Given the description of an element on the screen output the (x, y) to click on. 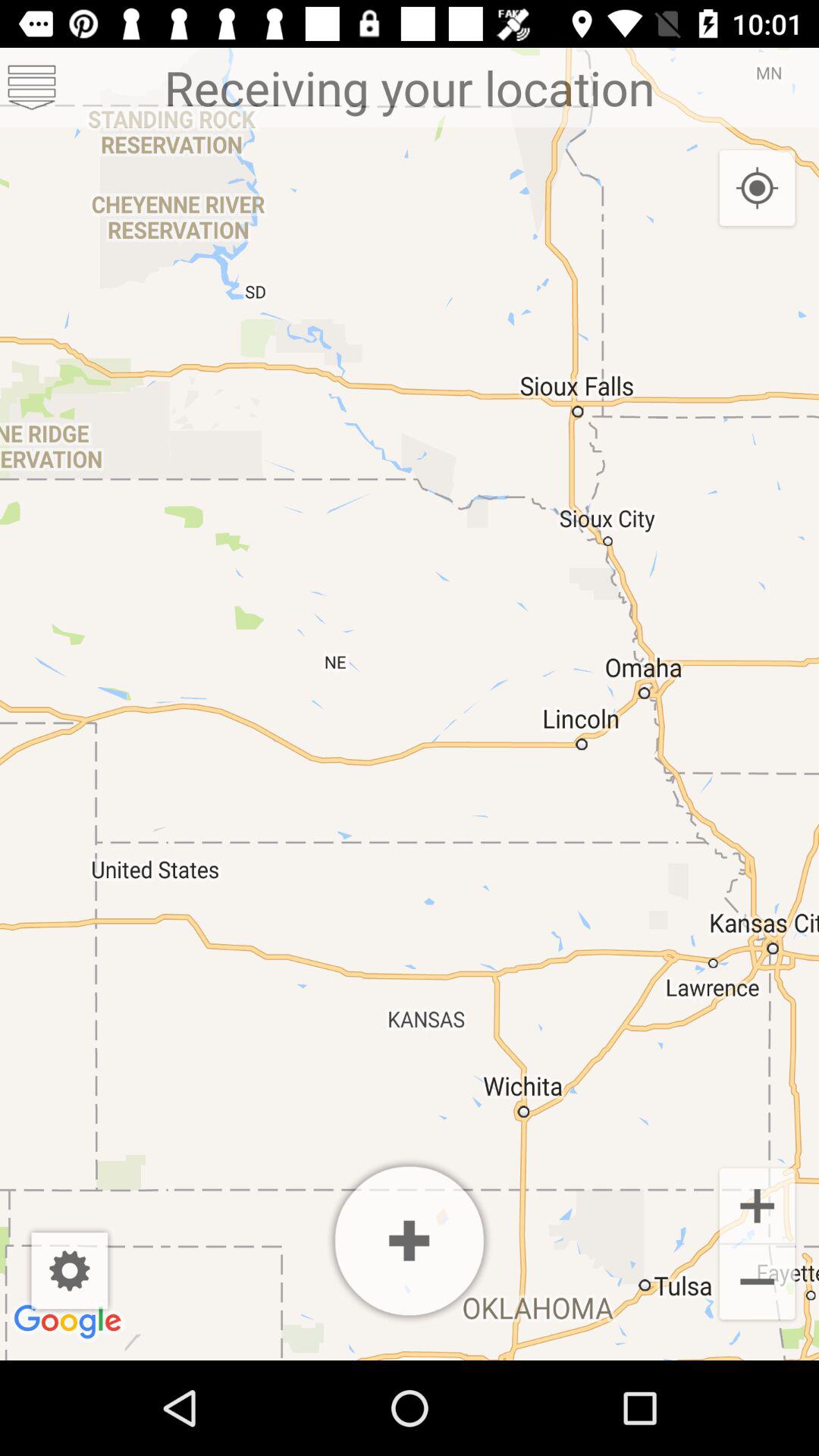
add a marker (409, 1240)
